Given the description of an element on the screen output the (x, y) to click on. 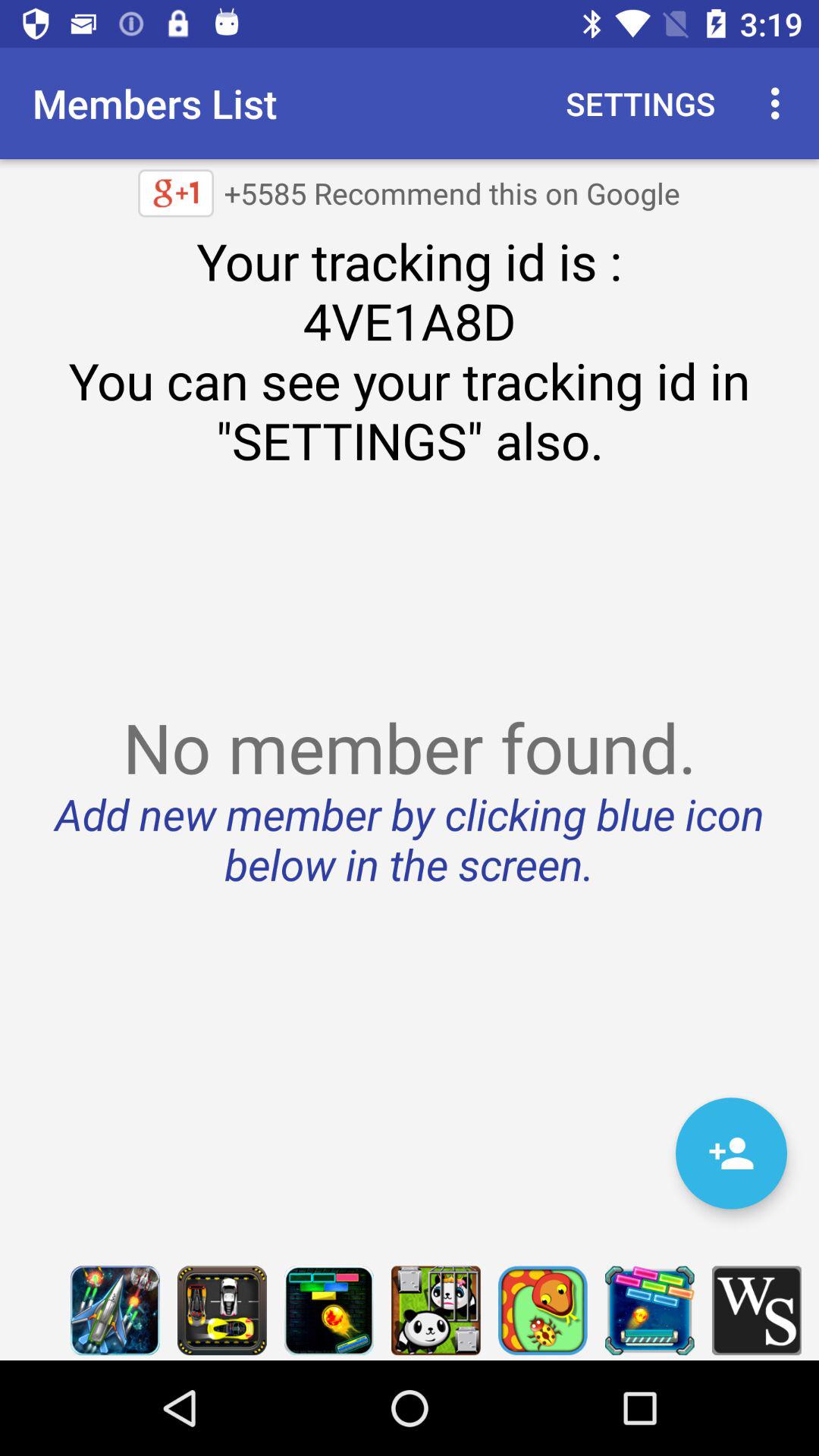
play a game (435, 1310)
